Given the description of an element on the screen output the (x, y) to click on. 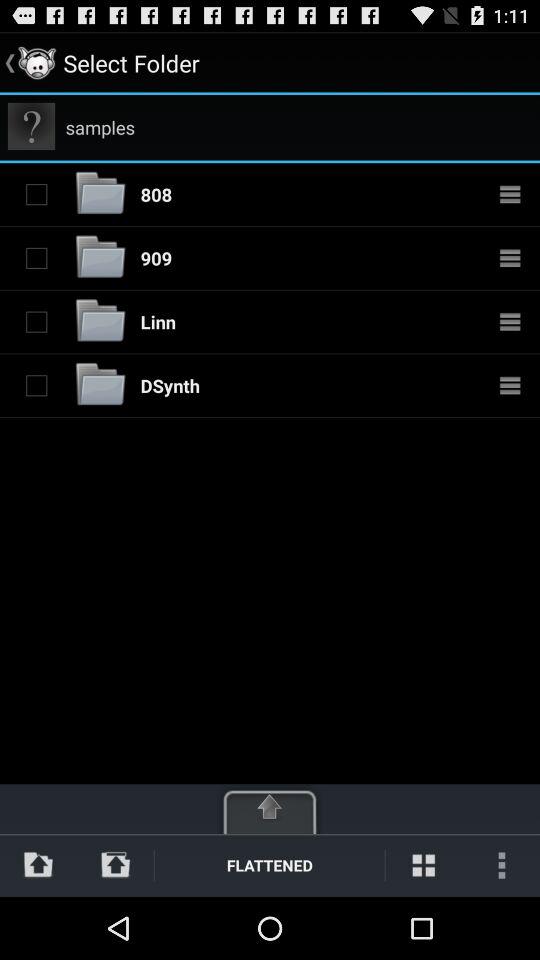
turn off the app above the 909 (156, 193)
